Given the description of an element on the screen output the (x, y) to click on. 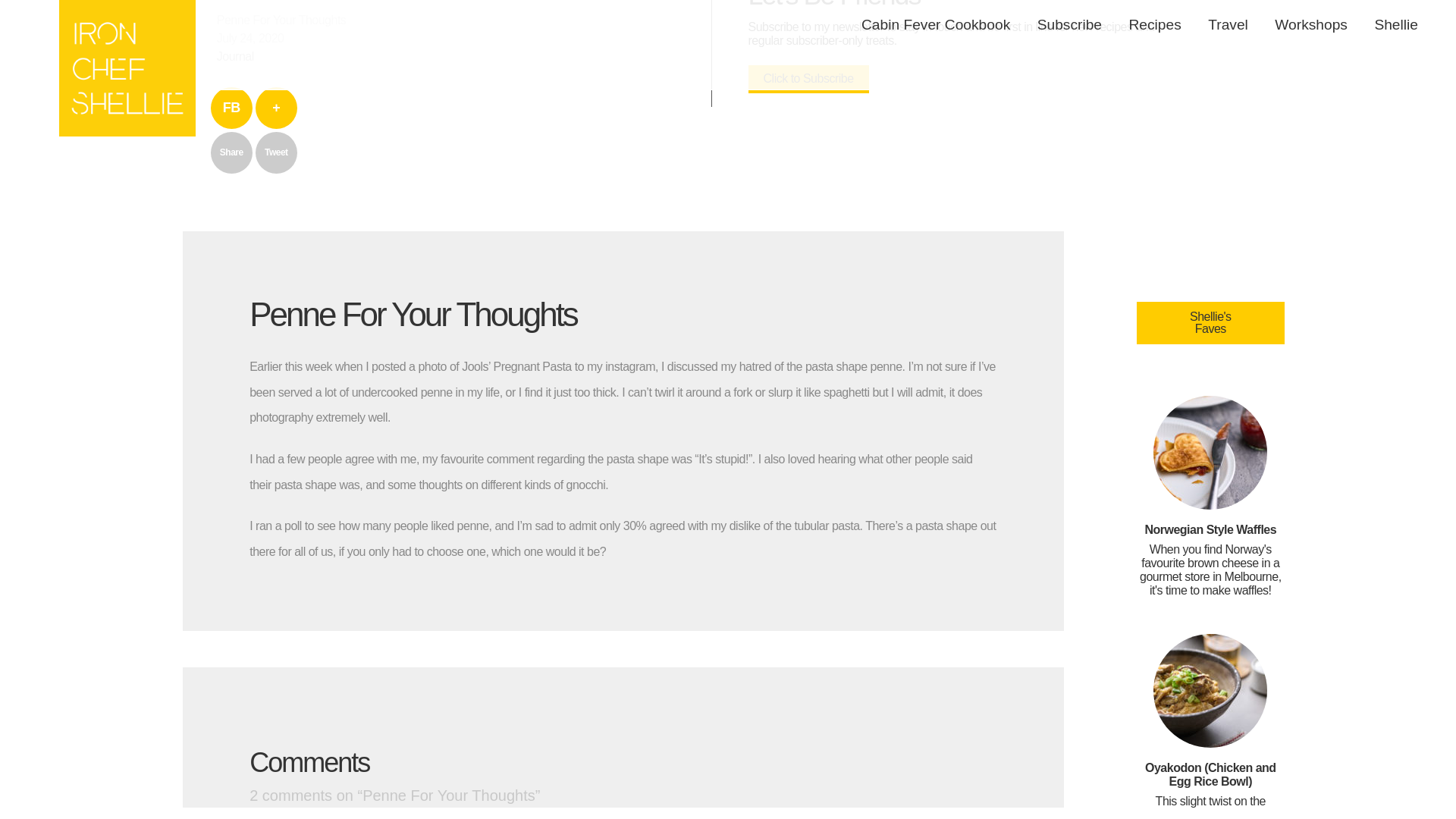
Share (231, 152)
Shellie's Faves (1210, 322)
FB (231, 107)
Journal (234, 56)
Norwegian Style Waffles (1210, 521)
Tweet (276, 152)
Click to Subscribe (808, 79)
